Given the description of an element on the screen output the (x, y) to click on. 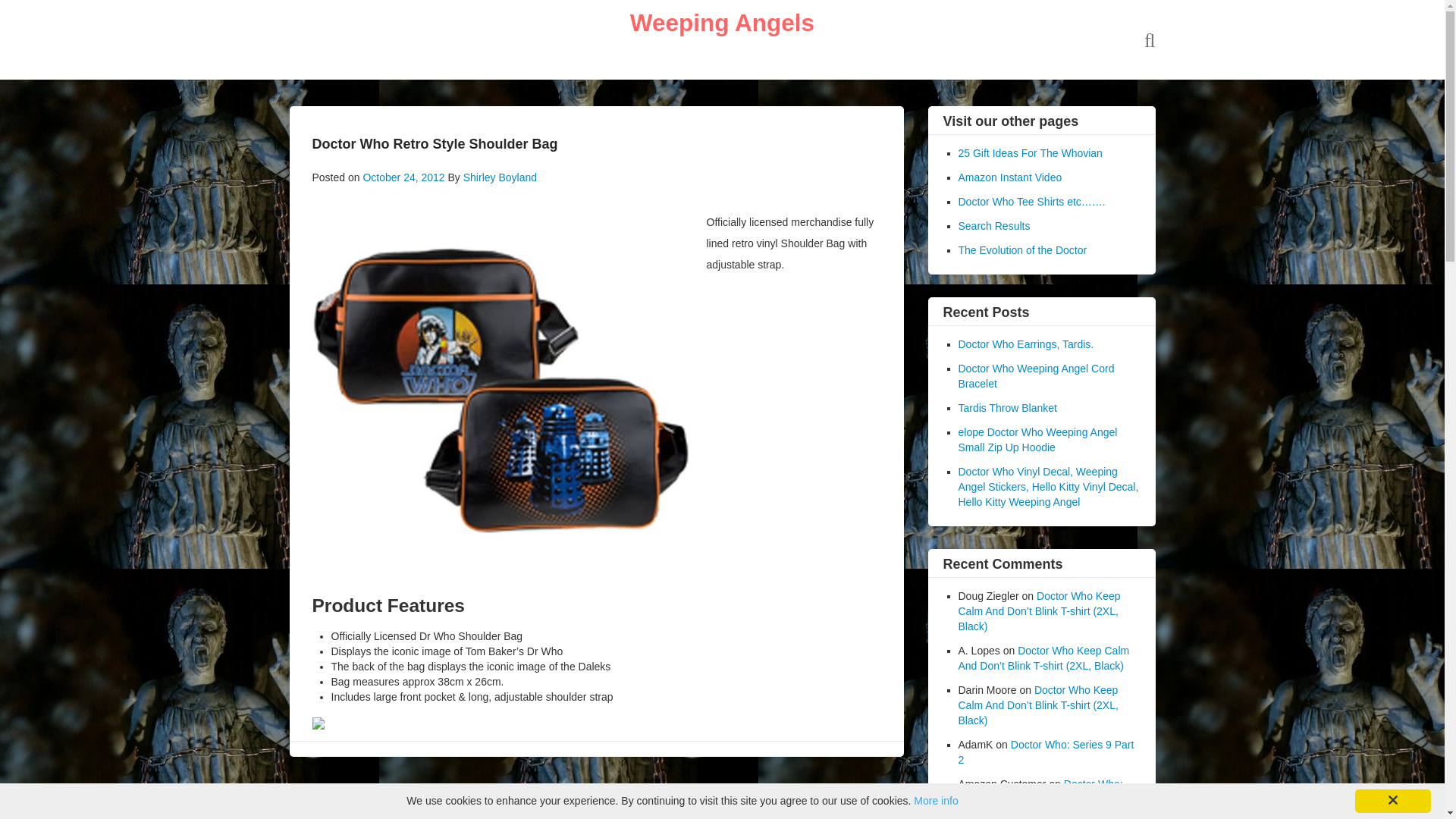
The Evolution of the Doctor (1022, 250)
Doctor Who: Series 9 Part 2 (1040, 791)
Doctor Who Earrings, Tardis. (1026, 344)
Doctor Who: Series 9 Part 2 (1046, 751)
October 24, 2012 (403, 177)
Doctor Who Weeping Angel Cord Bracelet (1036, 375)
elope Doctor Who Weeping Angel Small Zip Up Hoodie (1038, 439)
Tardis Throw Blanket (1007, 408)
The scariest enemy since the Daleks! (721, 22)
Shirley Boyland (500, 177)
Amazon Instant Video (1010, 177)
Weeping Angels (721, 22)
25 Gift Ideas For The Whovian (1030, 152)
Search Results (994, 225)
